Given the description of an element on the screen output the (x, y) to click on. 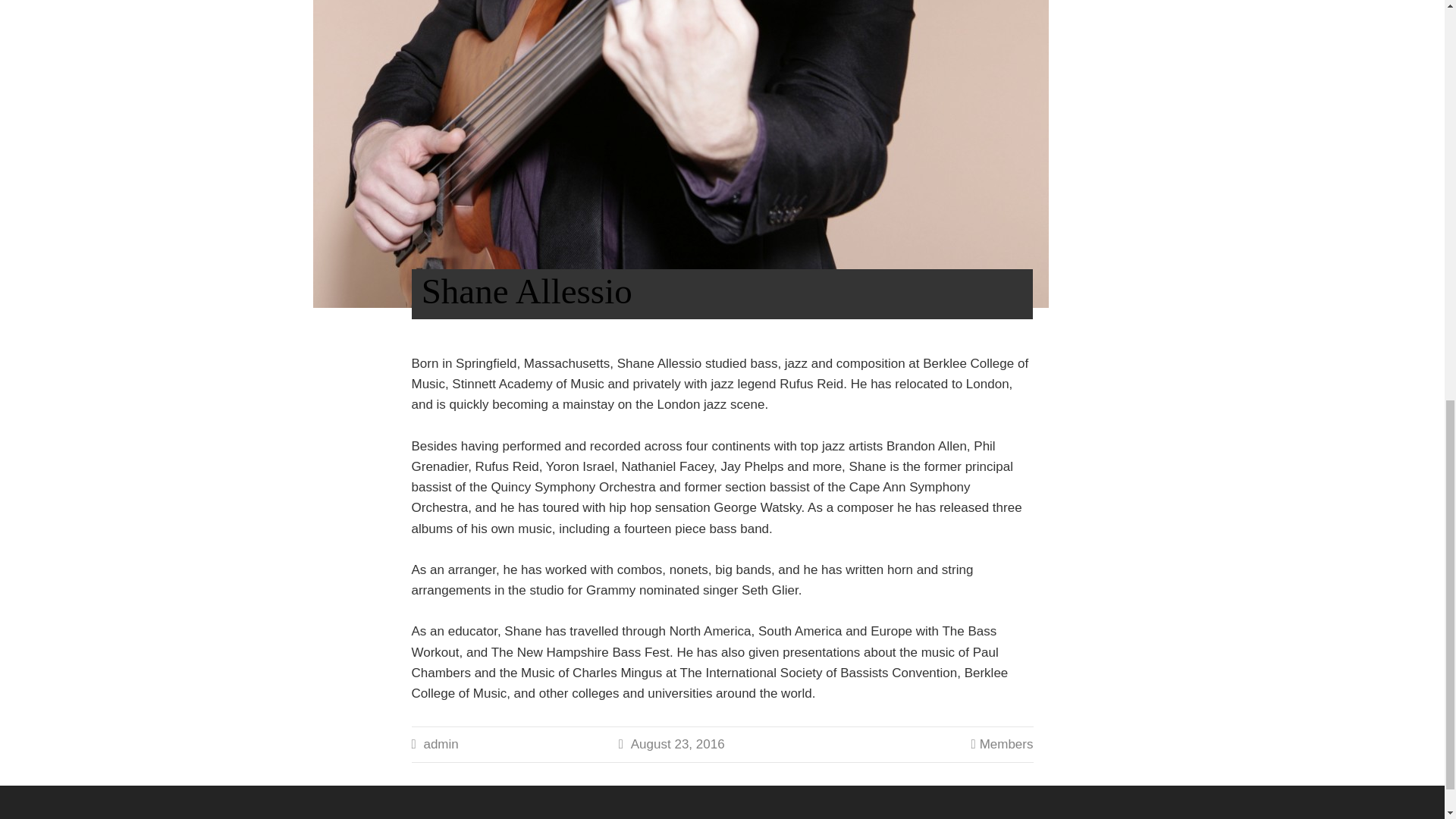
Members (1006, 744)
admin (440, 744)
